Given the description of an element on the screen output the (x, y) to click on. 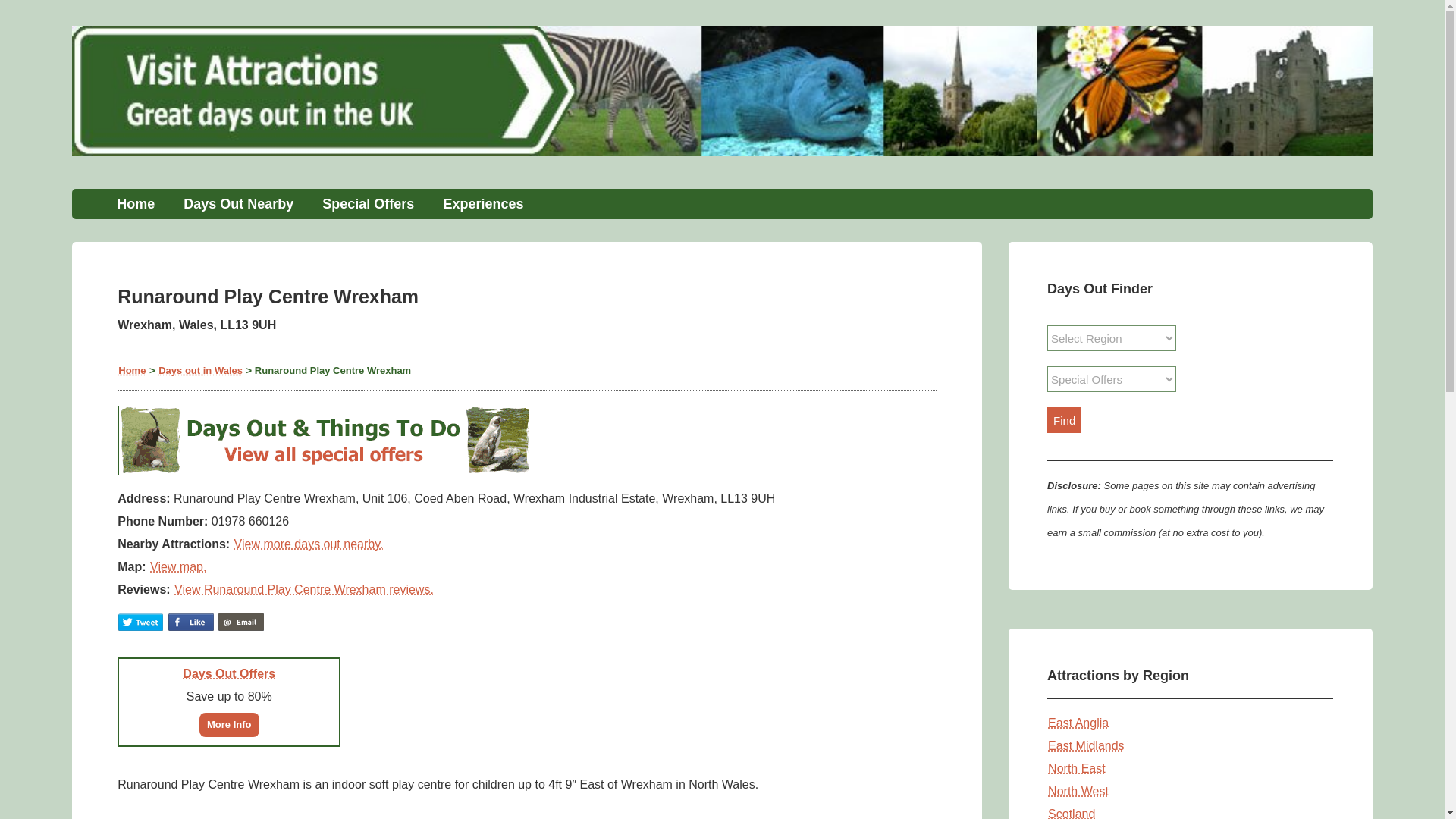
Special Offers (367, 204)
Home (132, 369)
North East (1076, 768)
View Runaround Play Centre Wrexham reviews. (303, 588)
View more days out nearby. (308, 543)
More Info (229, 723)
View map. (177, 565)
East Anglia (1077, 722)
Scotland (1071, 813)
Find (1063, 420)
Find (1063, 420)
Days out in Wales (200, 369)
Experiences (482, 204)
East Midlands (1085, 745)
Days Out Nearby (237, 204)
